Given the description of an element on the screen output the (x, y) to click on. 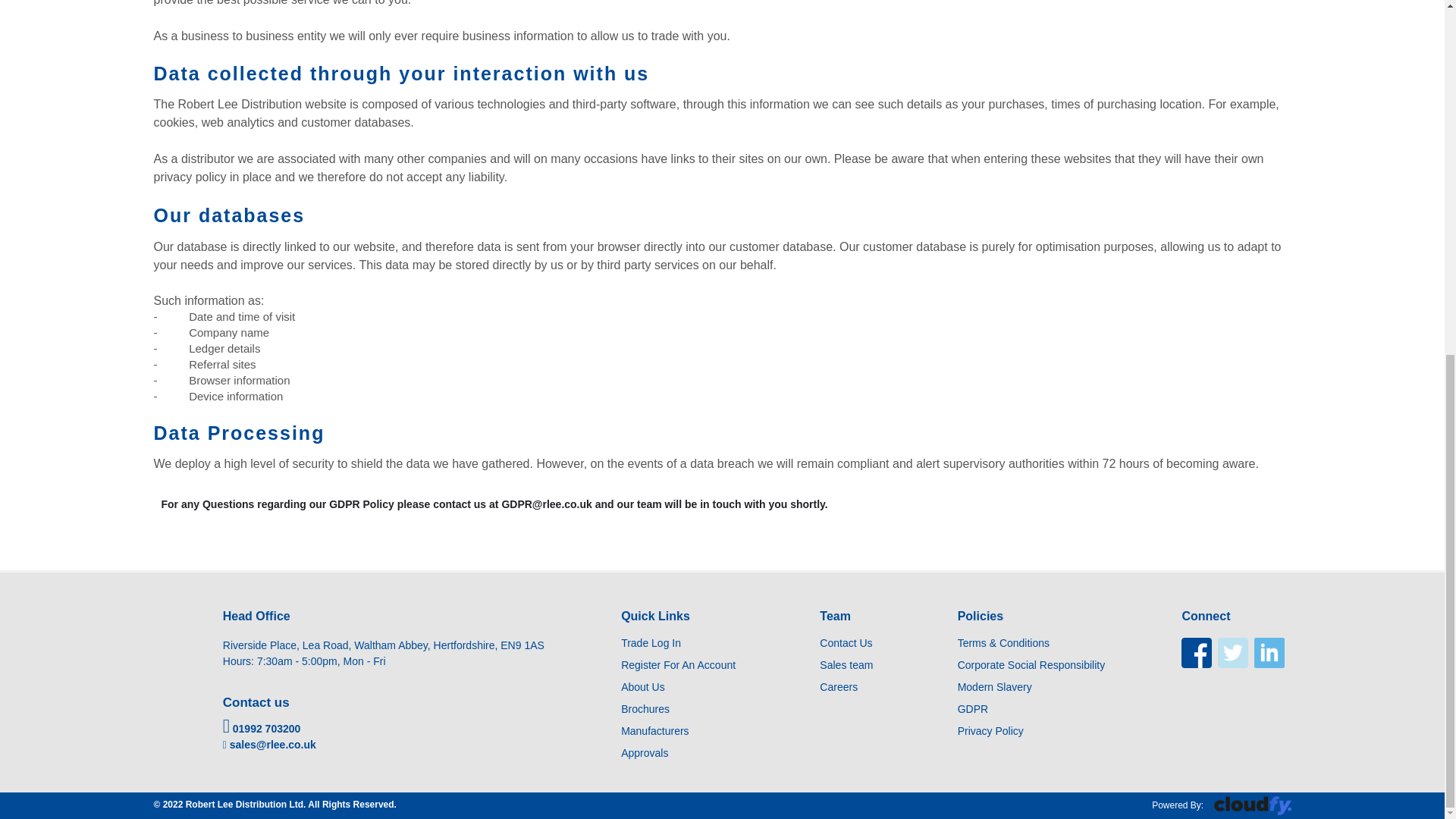
twitter (1232, 653)
Cloudfy (1251, 805)
facebook (1195, 653)
linkedin (1268, 653)
